Given the description of an element on the screen output the (x, y) to click on. 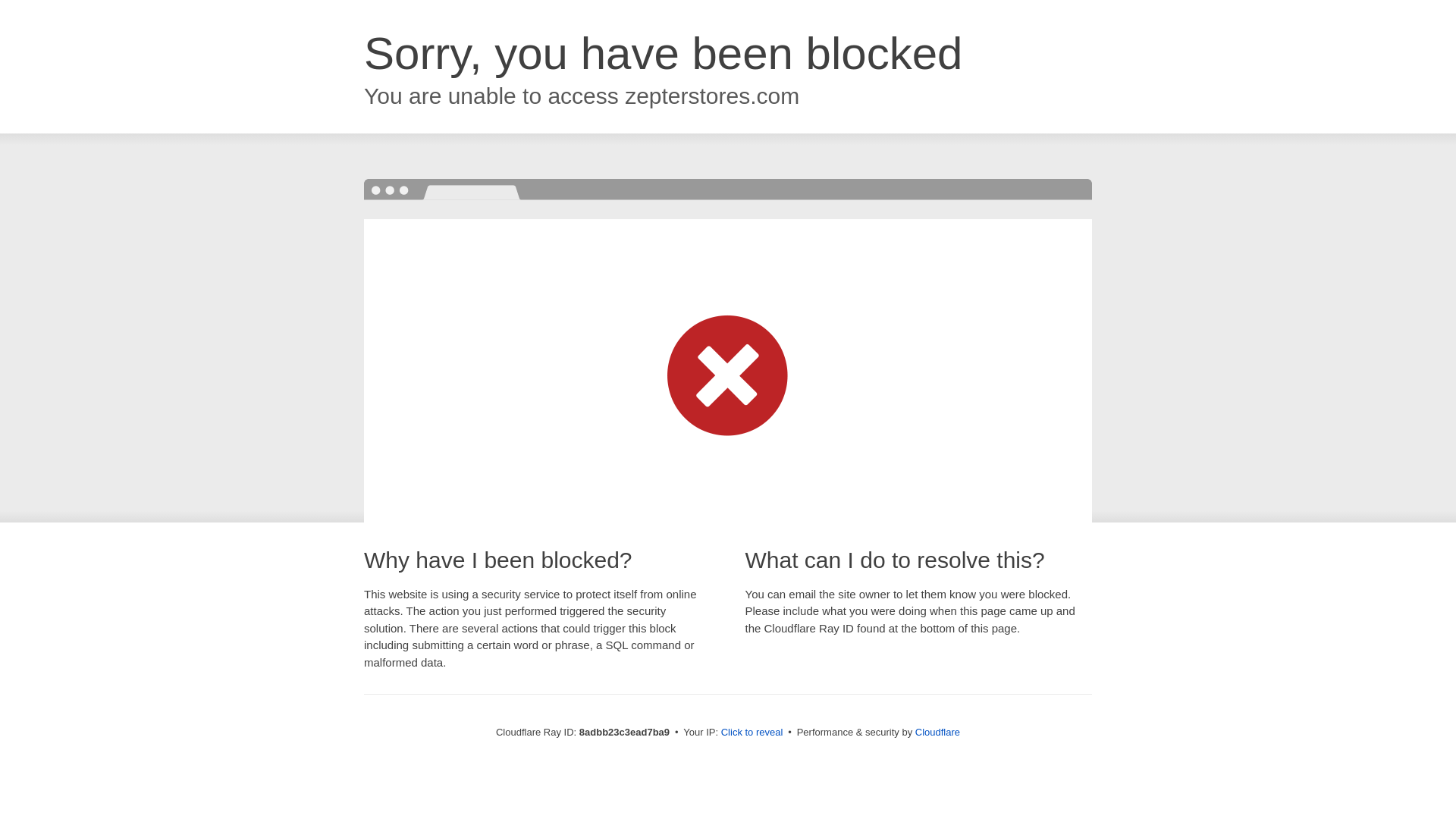
Click to reveal (751, 732)
Cloudflare (937, 731)
